Given the description of an element on the screen output the (x, y) to click on. 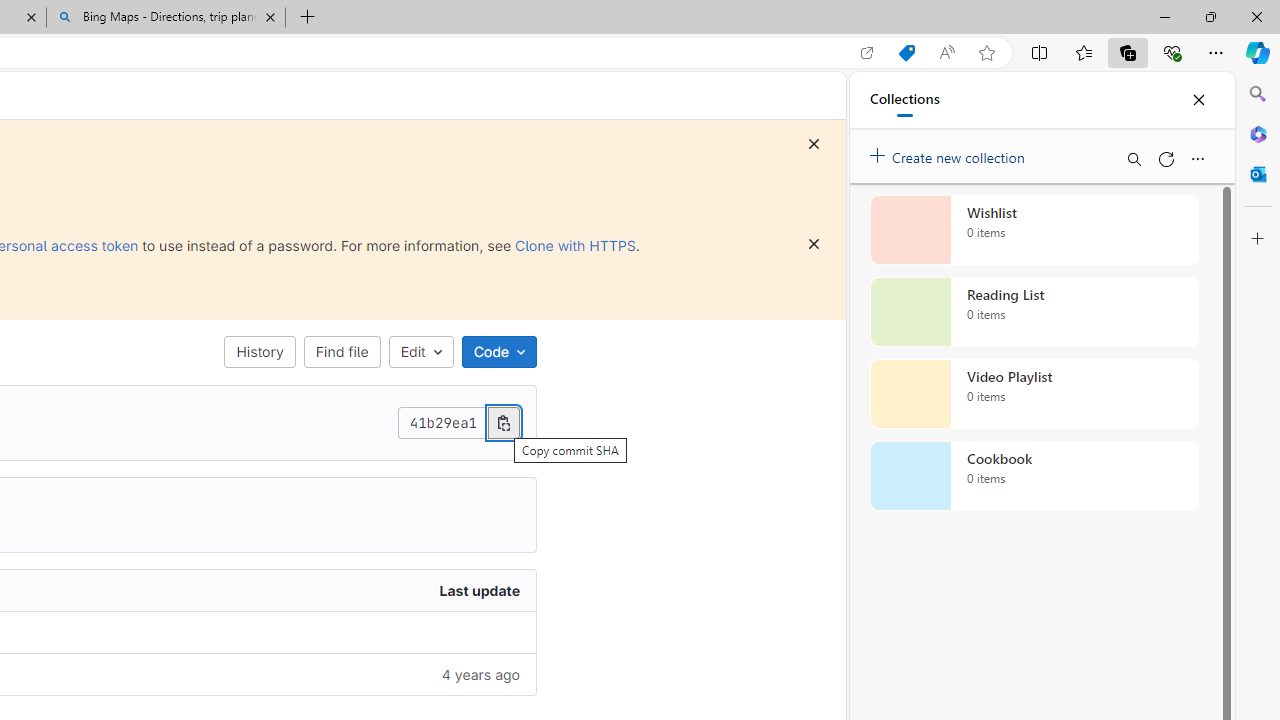
History (259, 351)
Create new collection (950, 153)
Last update (289, 591)
Shopping in Microsoft Edge (906, 53)
Wishlist collection, 0 items (1034, 229)
Open in app (867, 53)
Clone with HTTPS (575, 245)
Edit (420, 351)
